Given the description of an element on the screen output the (x, y) to click on. 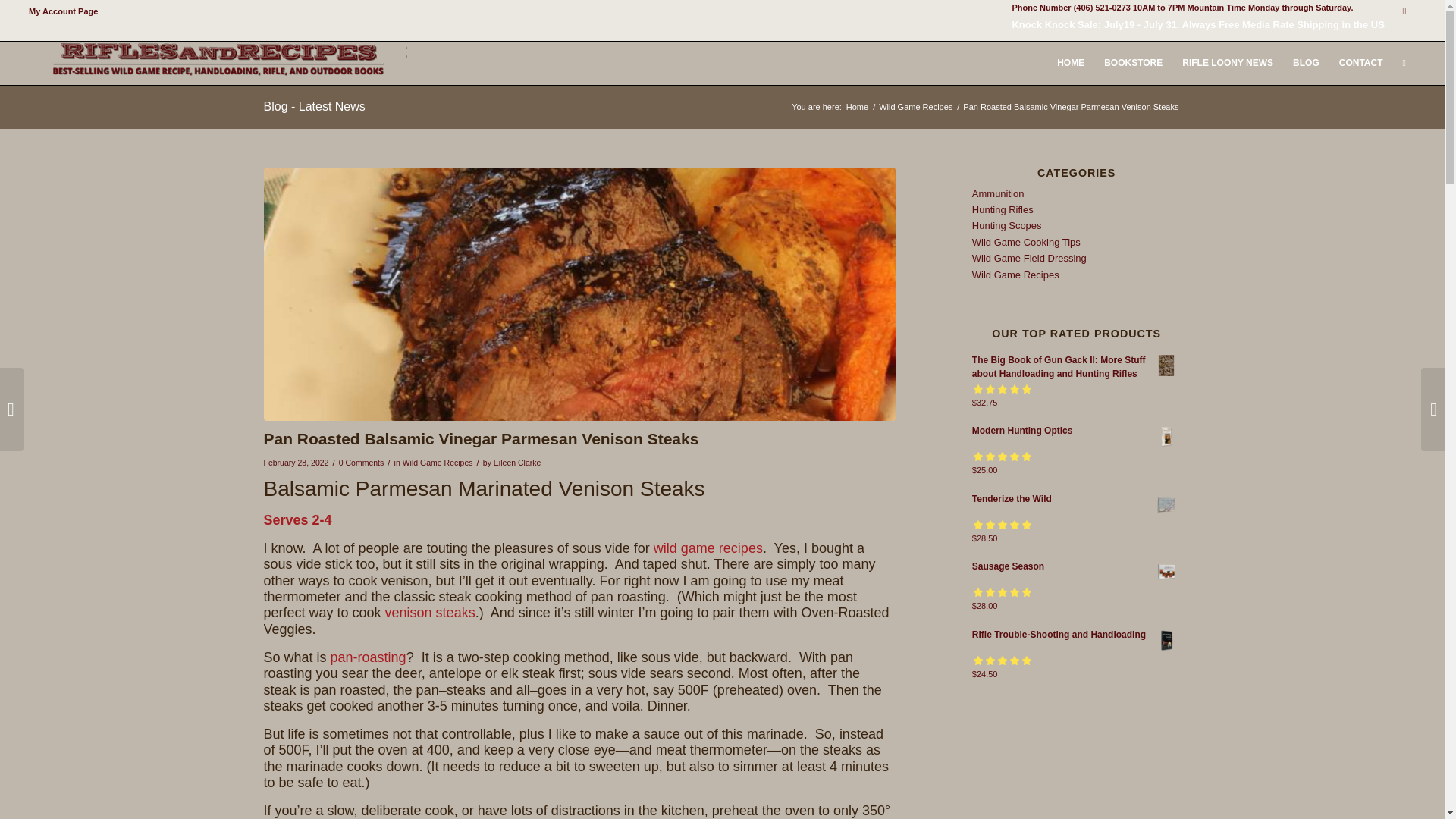
Home (857, 107)
Facebook (1404, 11)
Wild Game Recipes (438, 461)
Blog - Latest News (314, 106)
RIFLE LOONY NEWS (1227, 63)
Permanent Link: Blog - Latest News (314, 106)
CONTACT (1361, 63)
wild game recipes (707, 548)
BOOKSTORE (1133, 63)
HOME (1070, 63)
